Given the description of an element on the screen output the (x, y) to click on. 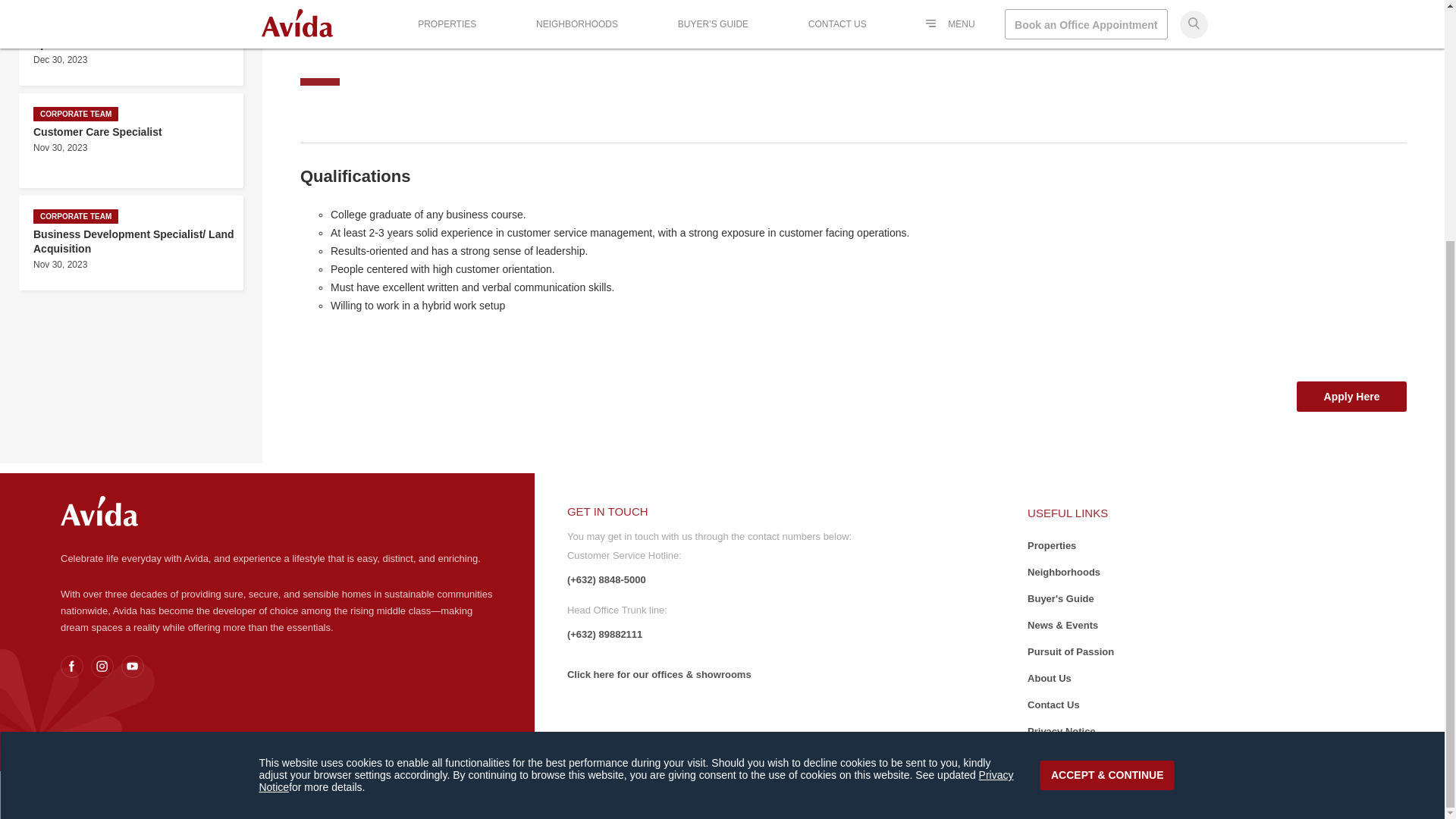
Apply Here (1351, 396)
Terms and Conditions (181, 751)
Privacy Notice (90, 751)
